Given the description of an element on the screen output the (x, y) to click on. 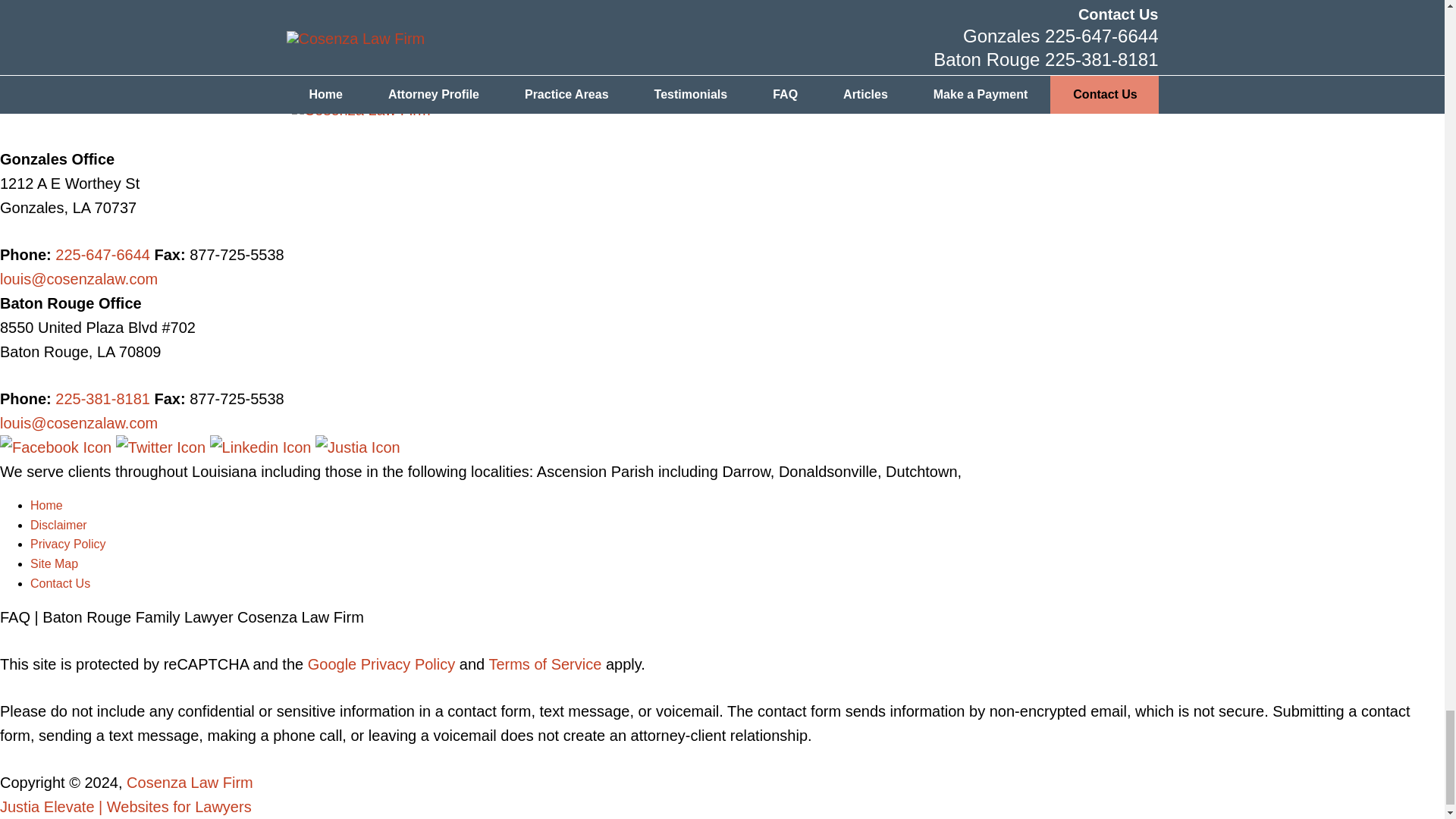
Linkedin (262, 446)
Justia (357, 446)
Facebook (58, 446)
Twitter (162, 446)
